Given the description of an element on the screen output the (x, y) to click on. 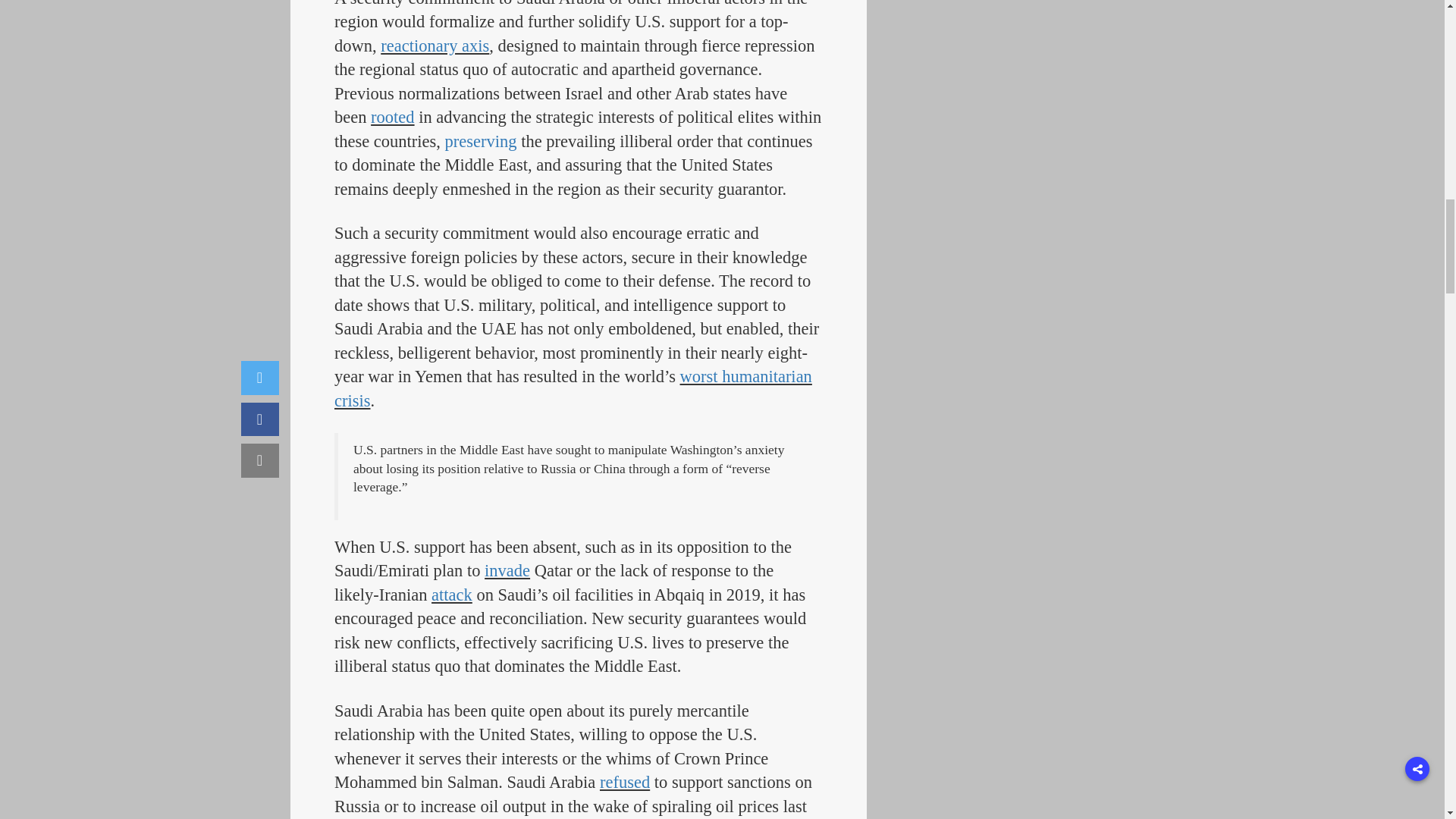
invade (506, 570)
reactionary axis (434, 45)
preserving (480, 140)
attack (450, 594)
rooted (392, 116)
worst humanitarian crisis (573, 388)
refused (624, 782)
